Given the description of an element on the screen output the (x, y) to click on. 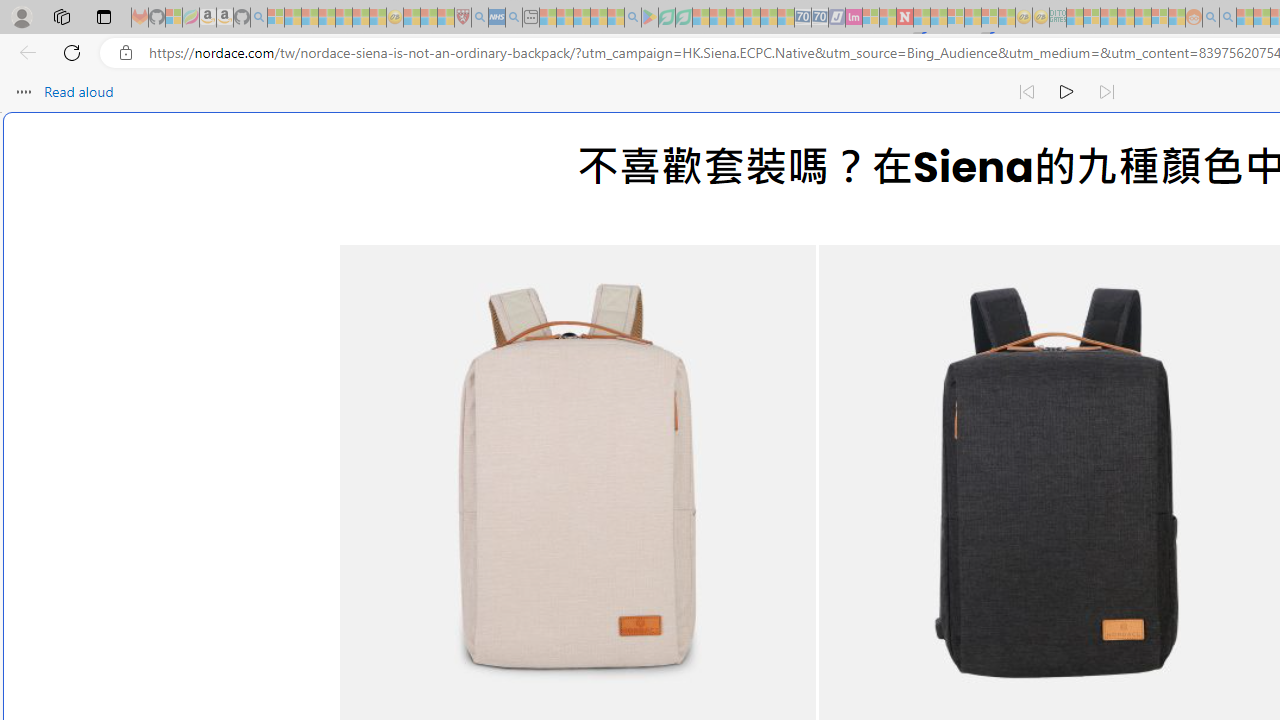
Previous (390, 501)
Class: flickity-button-icon (390, 502)
Read previous paragraph (1026, 92)
utah sues federal government - Search - Sleeping (513, 17)
